Given the description of an element on the screen output the (x, y) to click on. 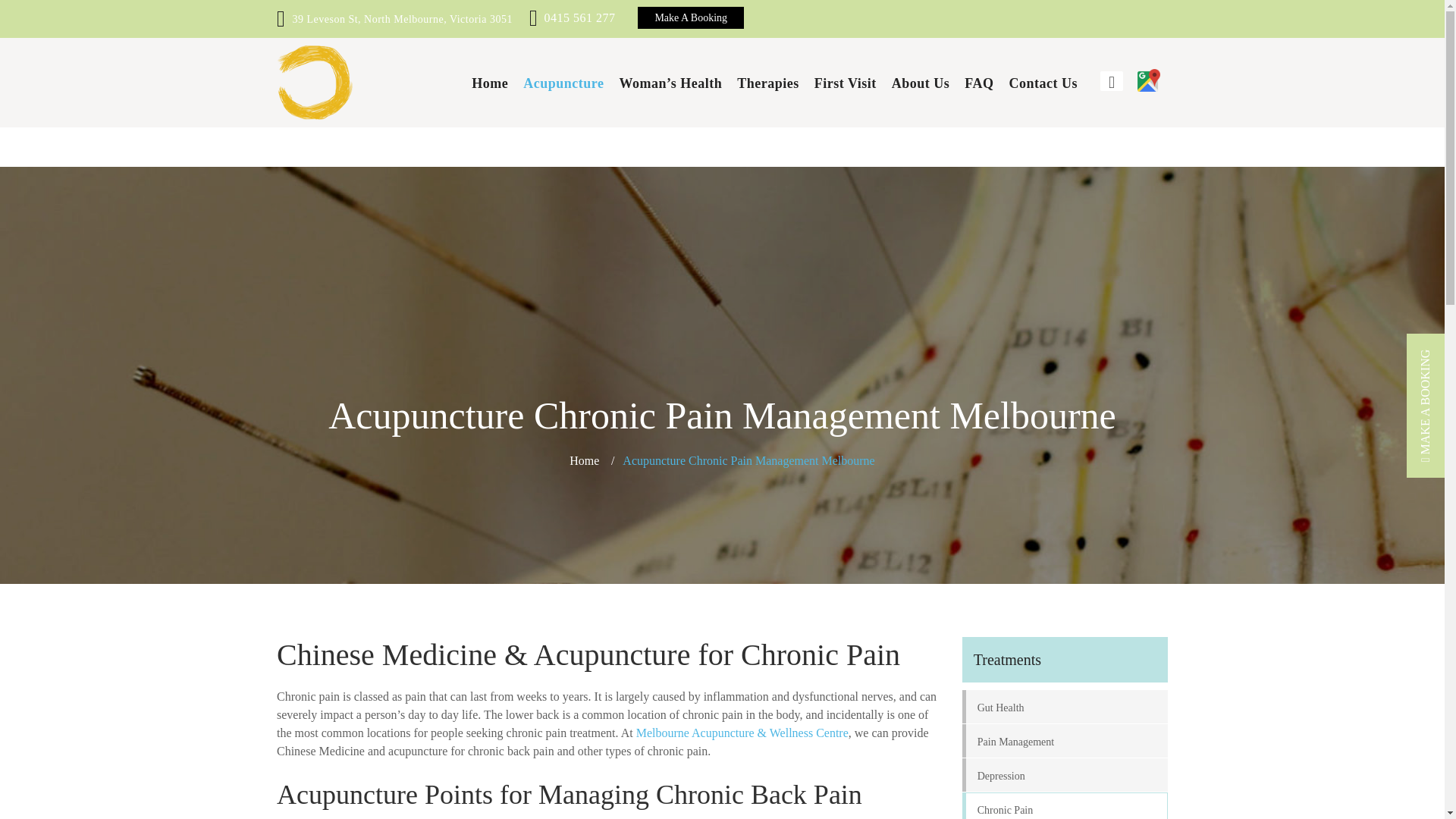
First Visit Element type: text (845, 83)
Home Element type: text (489, 83)
Make A Booking Element type: text (690, 17)
Melbourne Acupuncture Wellness Element type: hover (314, 81)
Therapies Element type: text (768, 83)
0415 561 277 Element type: text (575, 17)
Melbourne Acupuncture & Wellness Centre Element type: text (742, 732)
About Us Element type: text (920, 83)
Contact Us Element type: text (1042, 83)
Pain Management Element type: text (1064, 740)
FAQ Element type: text (978, 83)
Gut Health Element type: text (1064, 706)
Home Element type: text (584, 460)
Depression Element type: text (1064, 774)
Acupuncture Element type: text (563, 83)
